Given the description of an element on the screen output the (x, y) to click on. 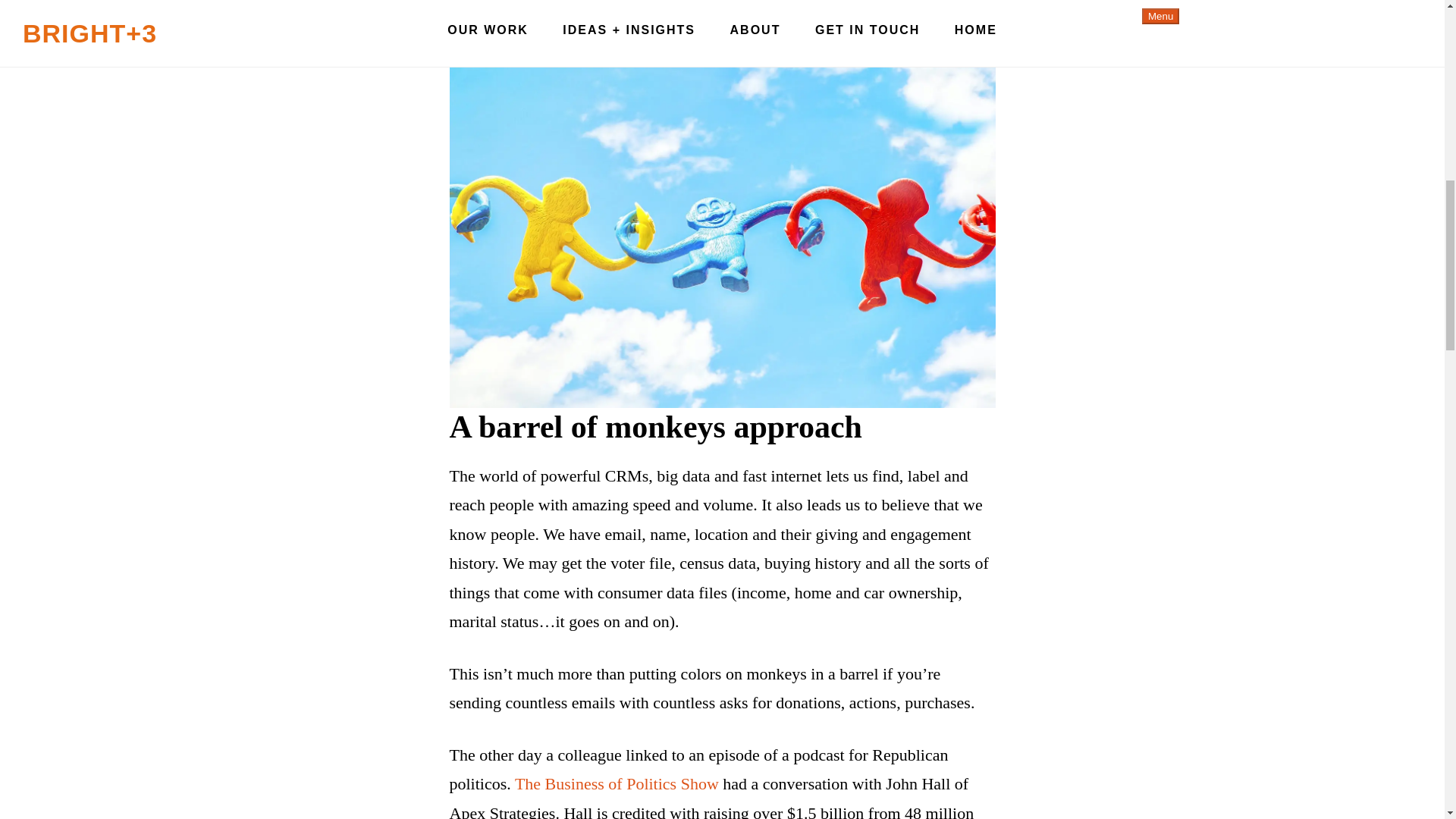
The Business of Politics Show (617, 783)
